Given the description of an element on the screen output the (x, y) to click on. 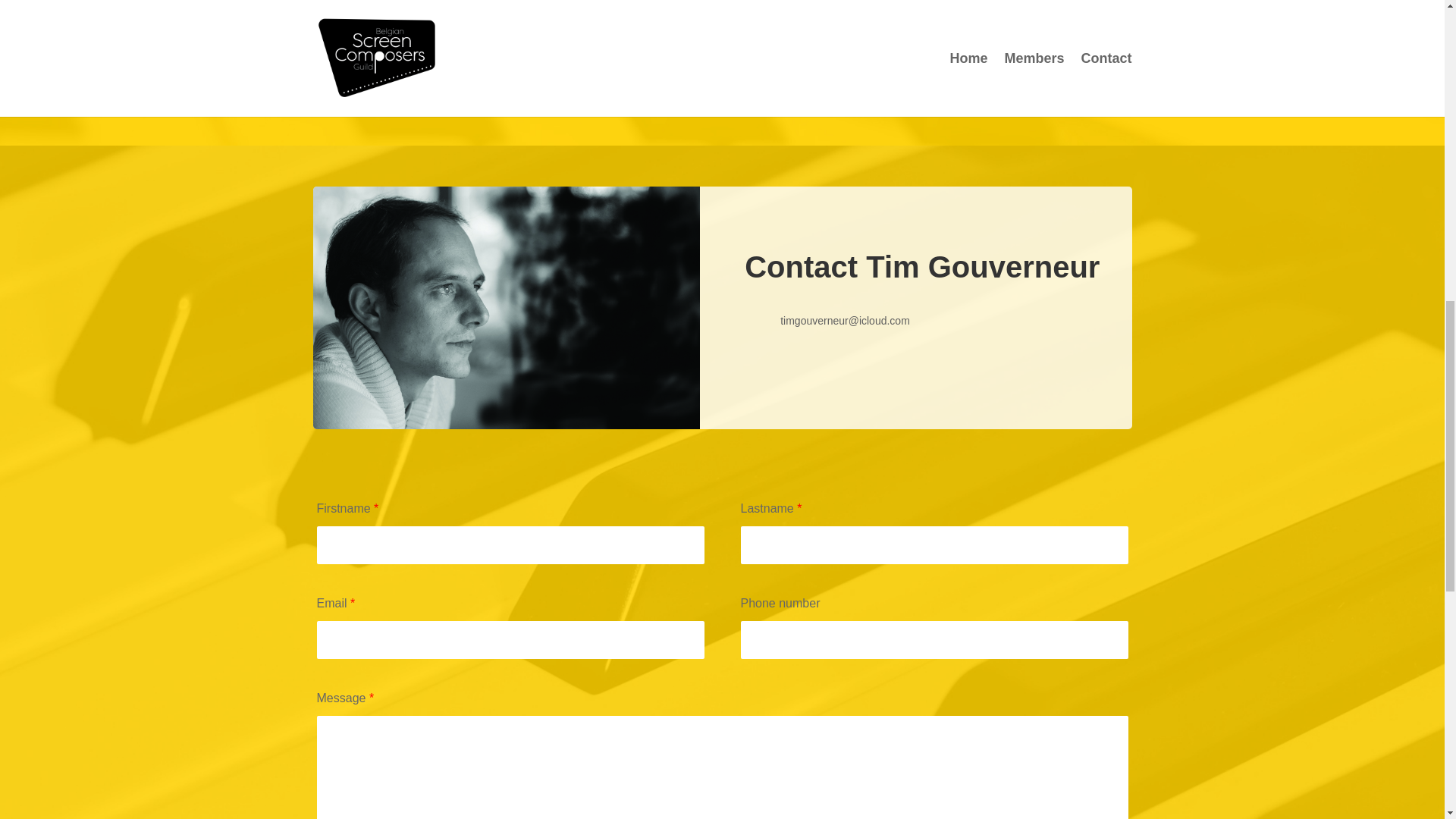
Contact (722, 61)
